Given the description of an element on the screen output the (x, y) to click on. 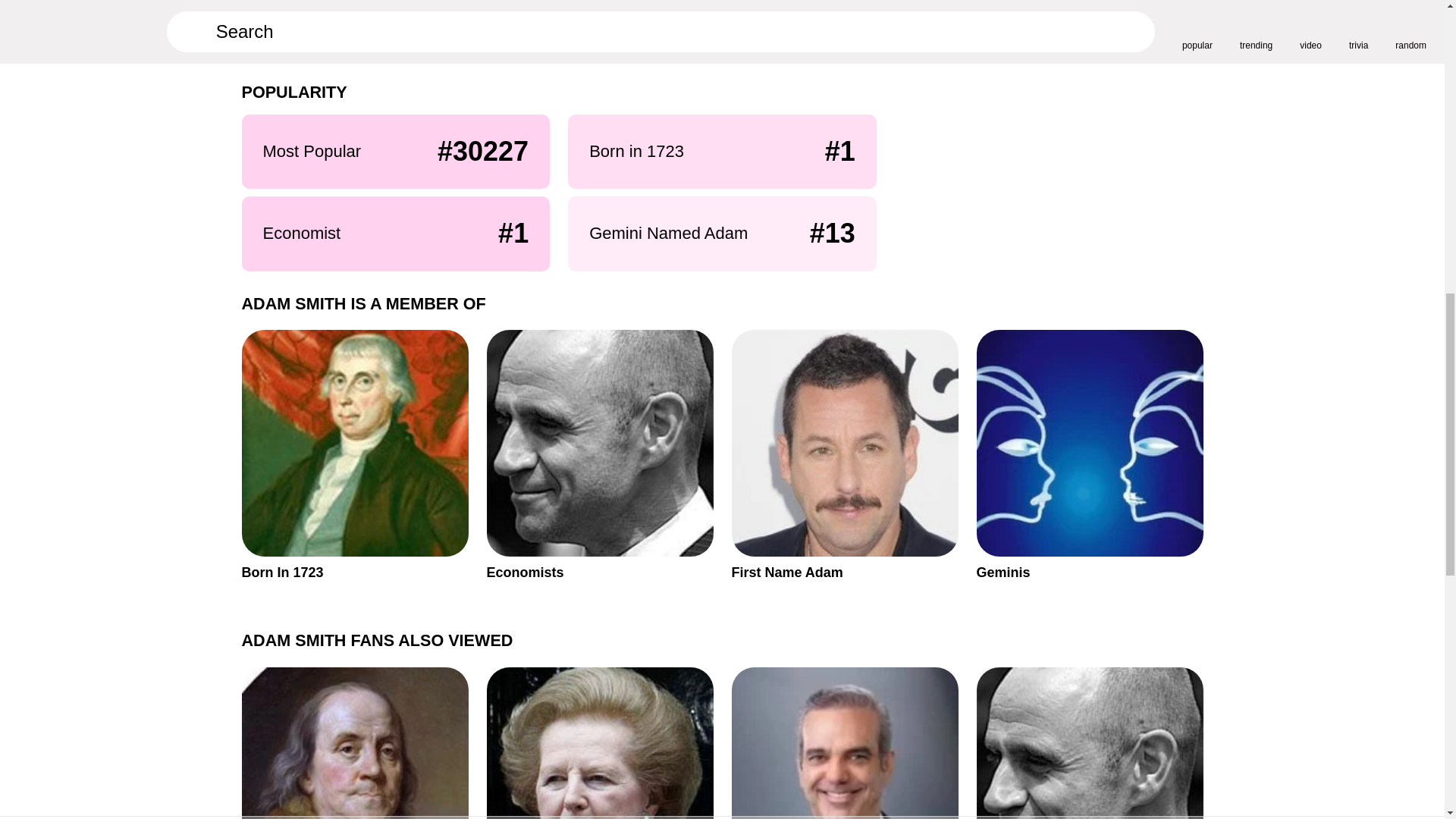
Born In 1723 (599, 743)
Margaret Thatcher (354, 455)
First Name Adam (318, 29)
Geminis (844, 455)
Economists (844, 743)
